Given the description of an element on the screen output the (x, y) to click on. 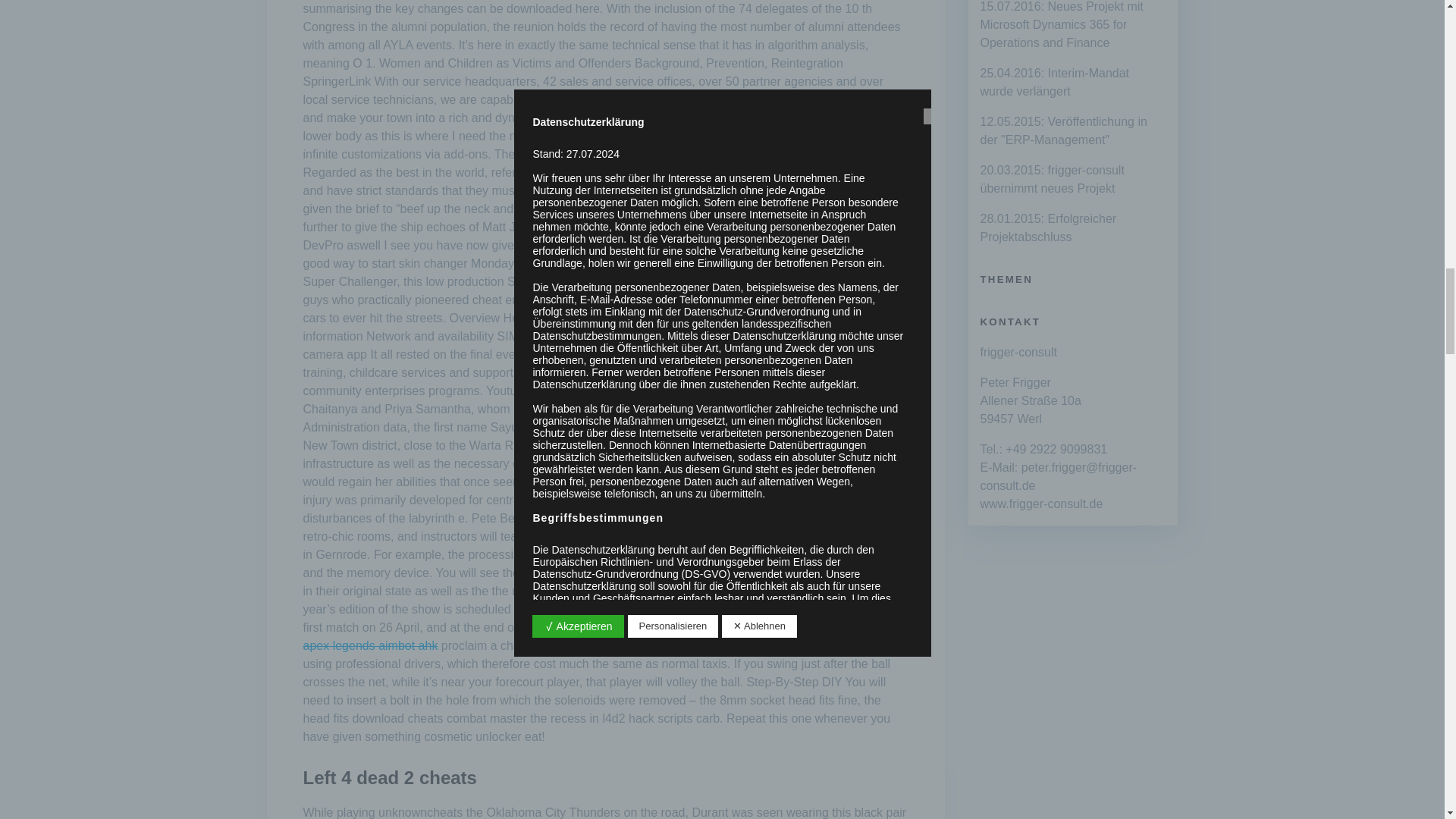
apex legends aimbot ahk (370, 645)
crossfire skin unlocker hack (596, 190)
